Given the description of an element on the screen output the (x, y) to click on. 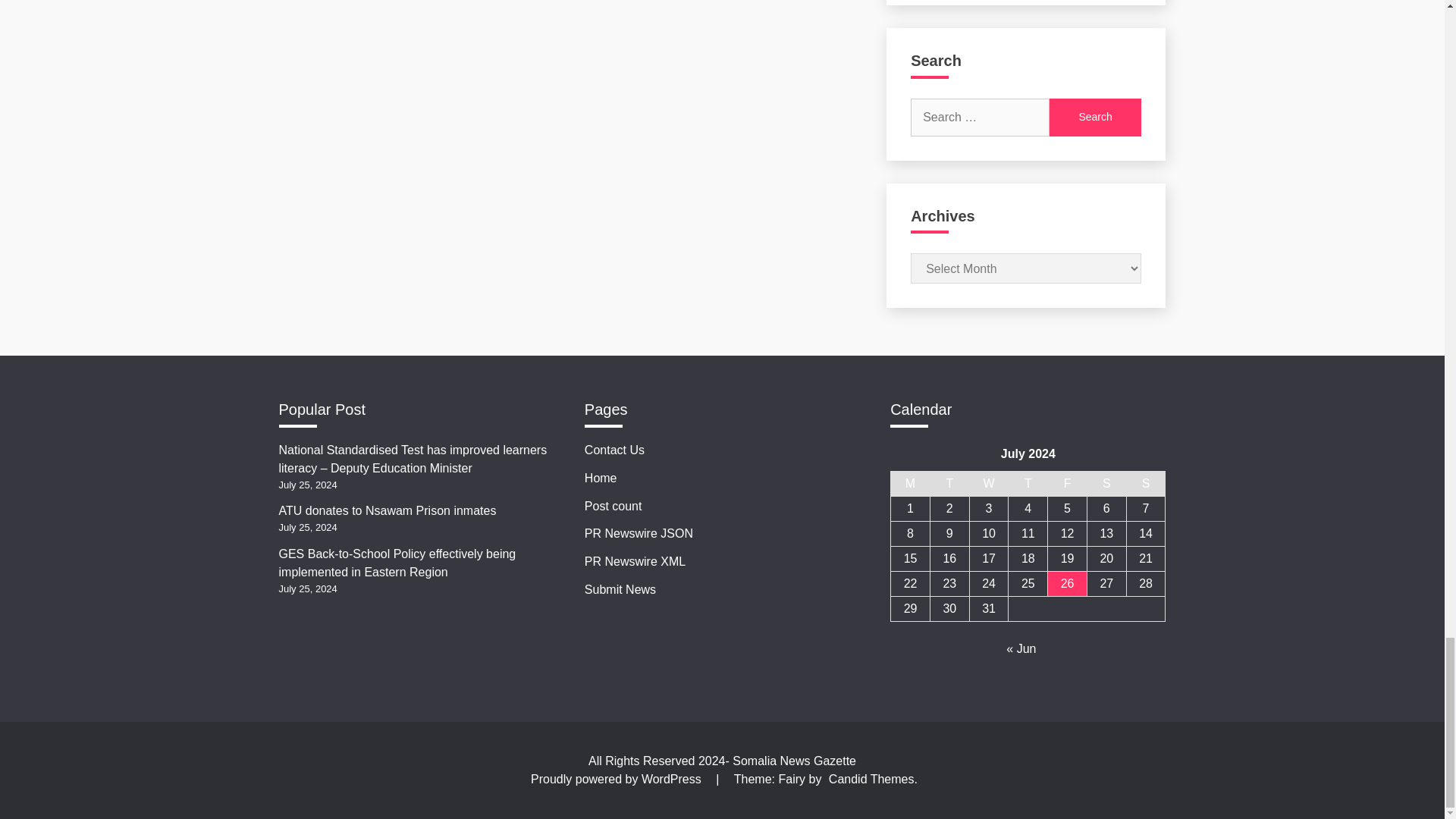
Search (1095, 117)
Thursday (1028, 483)
Wednesday (989, 483)
Tuesday (949, 483)
Search (1095, 117)
Monday (910, 483)
